Given the description of an element on the screen output the (x, y) to click on. 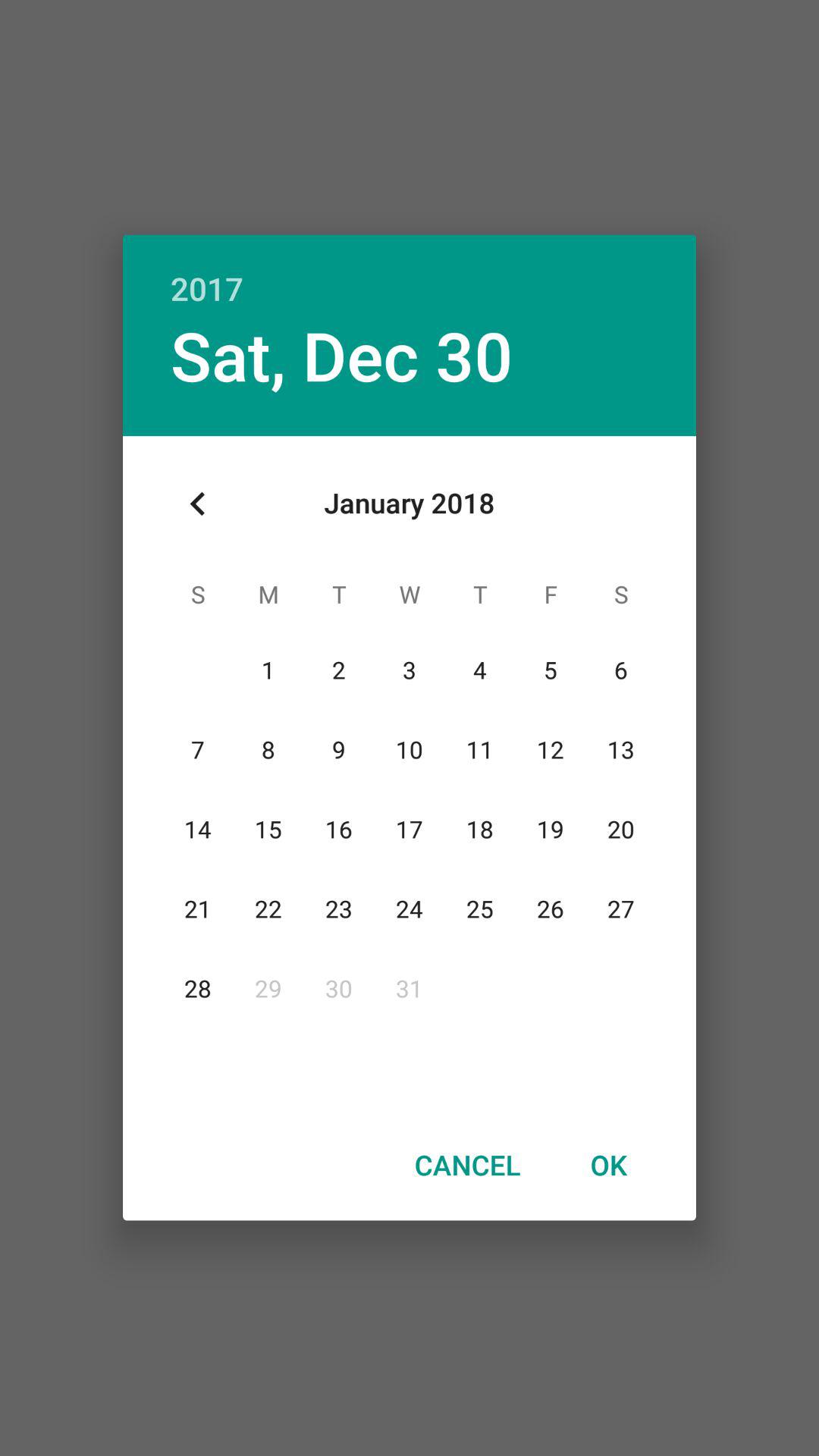
choose cancel icon (467, 1164)
